Given the description of an element on the screen output the (x, y) to click on. 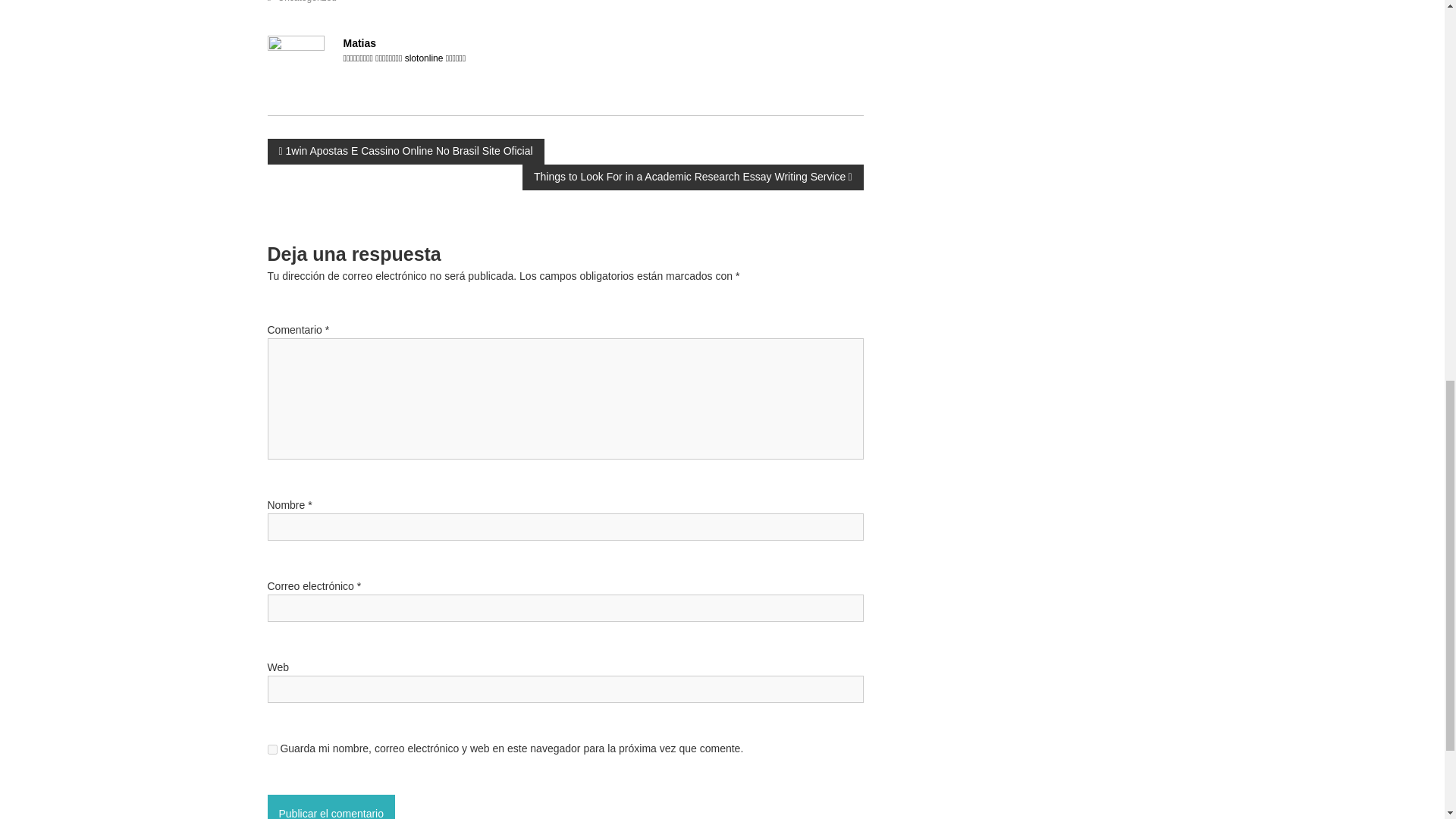
Uncategorized (307, 1)
slotonline (424, 58)
Publicar el comentario (330, 806)
Matias (358, 42)
yes (271, 749)
Publicar el comentario (330, 806)
1win Apostas E Cassino Online No Brasil Site Oficial (404, 150)
